Given the description of an element on the screen output the (x, y) to click on. 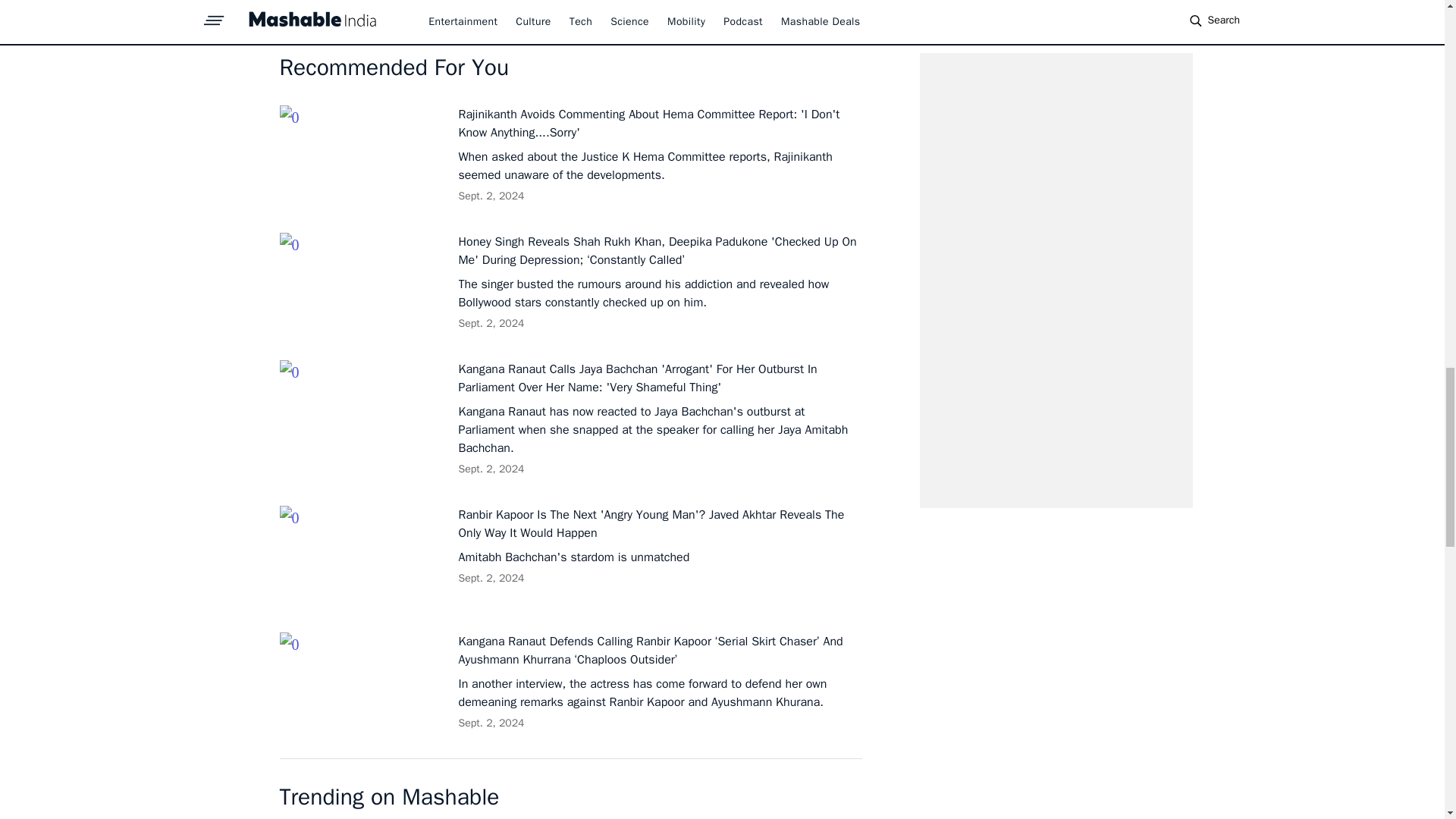
Alia Bhatt (515, 1)
Bollywood Movies (337, 1)
Karan Johar (439, 1)
